Given the description of an element on the screen output the (x, y) to click on. 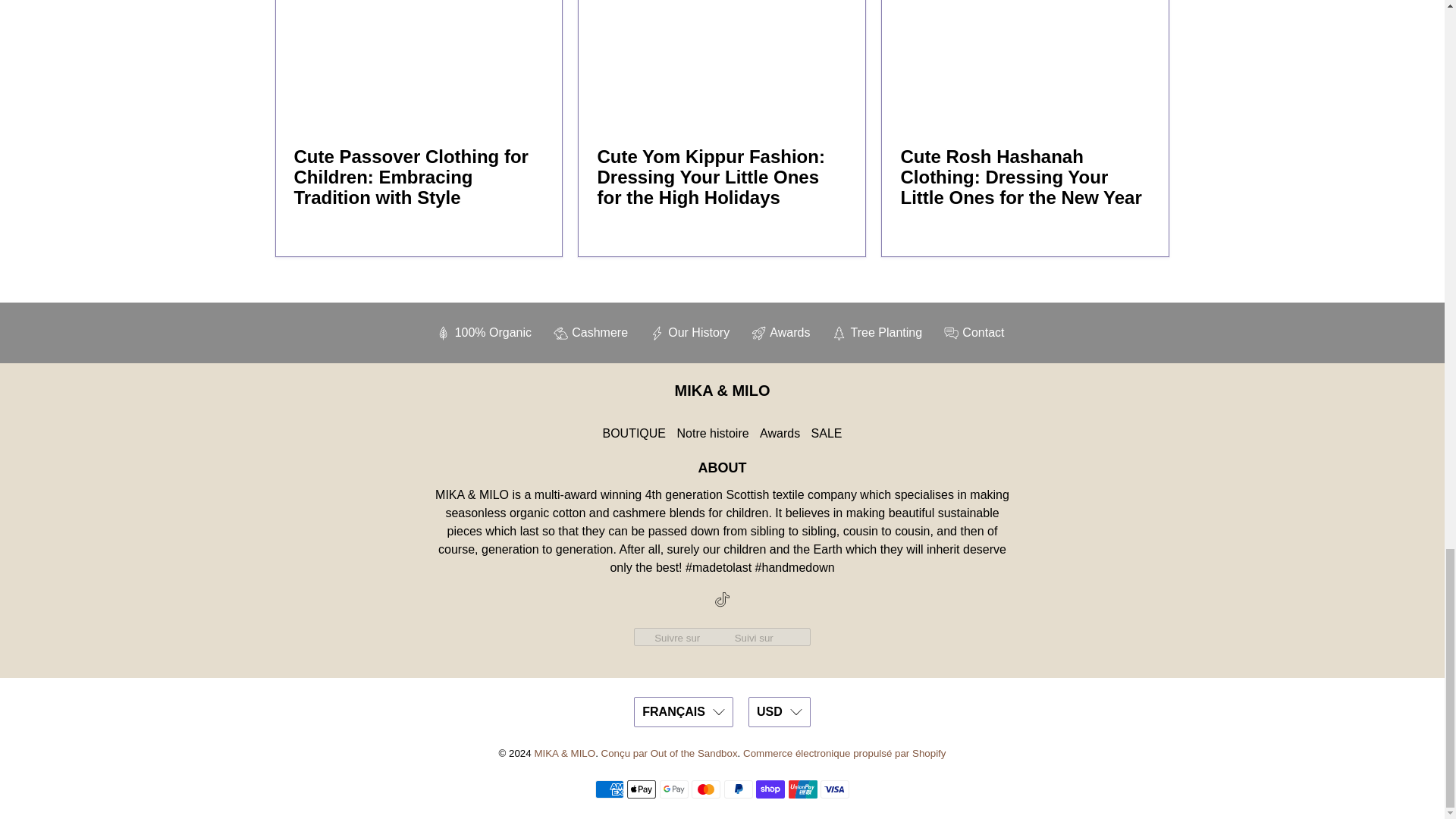
Google Pay (673, 789)
Mastercard (705, 789)
PayPal (737, 789)
American Express (609, 789)
Apple Pay (641, 789)
